Given the description of an element on the screen output the (x, y) to click on. 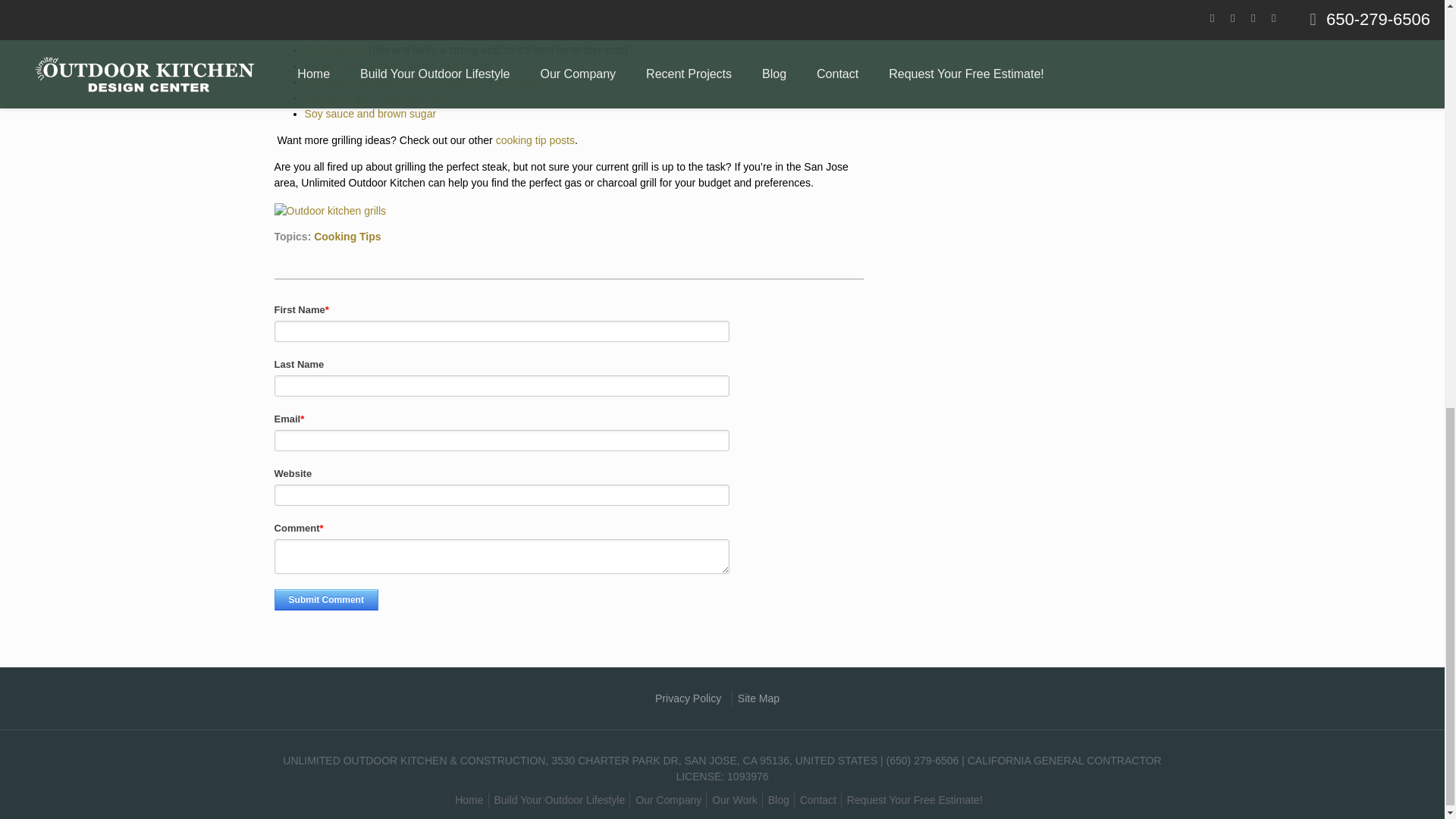
Submit Comment (326, 599)
